Given the description of an element on the screen output the (x, y) to click on. 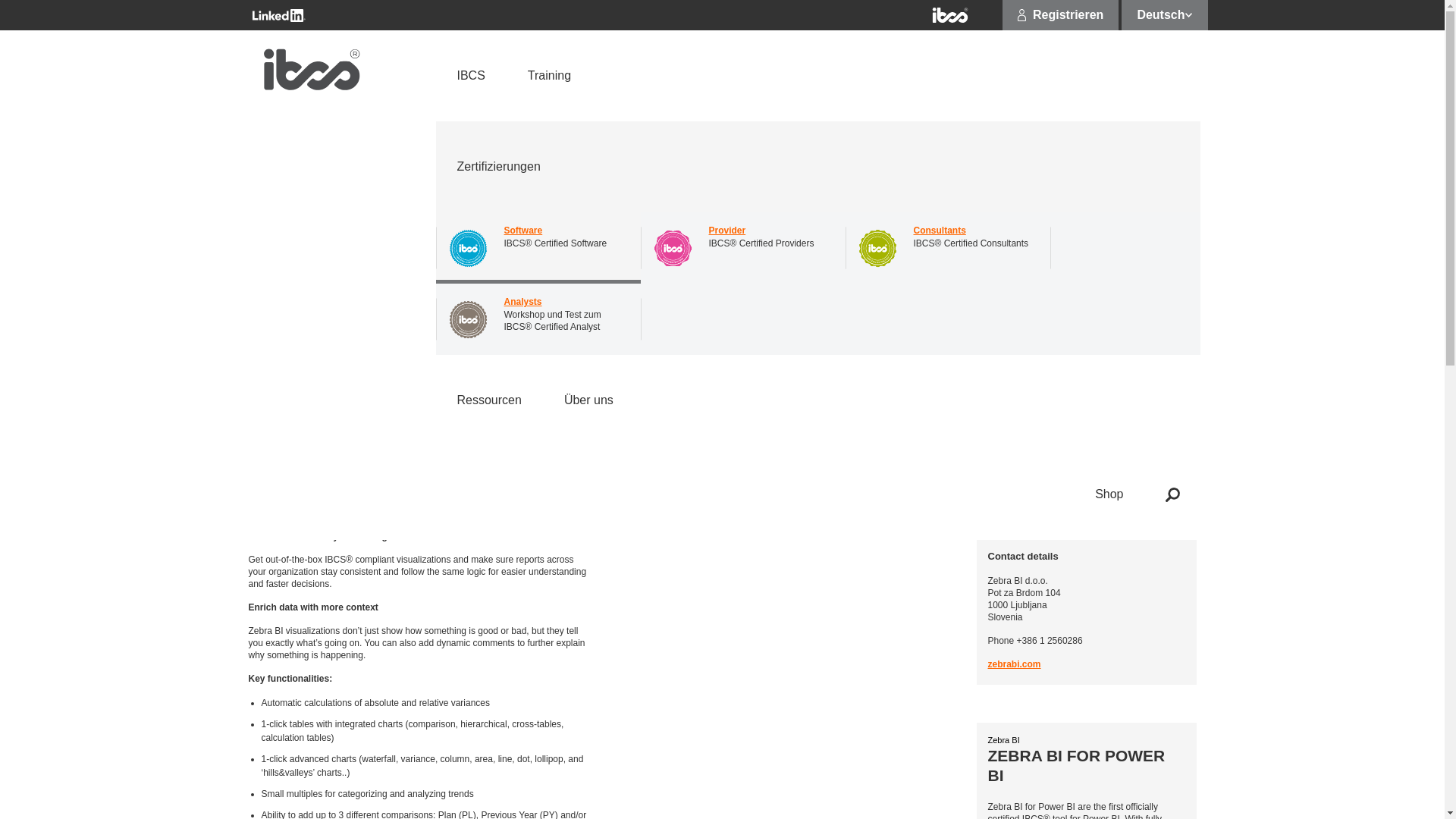
Training (549, 75)
Deutsch (1164, 15)
Zertifizierungen (817, 166)
Ressourcen (488, 399)
Registrieren (1060, 15)
Linkedin (277, 15)
Deutsch (1164, 15)
ibcs (949, 15)
zebrabi.com (1014, 664)
